Given the description of an element on the screen output the (x, y) to click on. 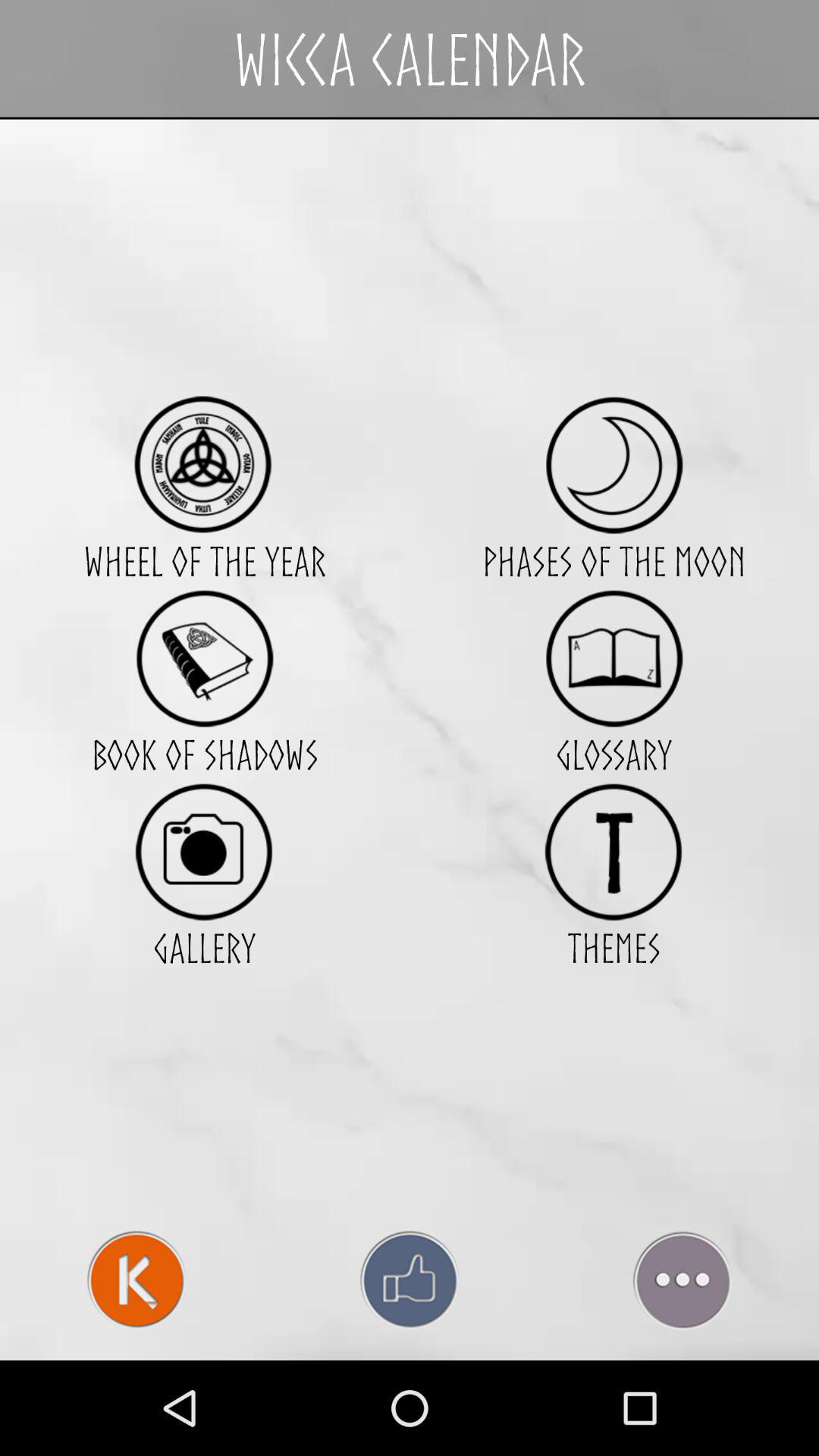
access photo gallery (204, 851)
